Given the description of an element on the screen output the (x, y) to click on. 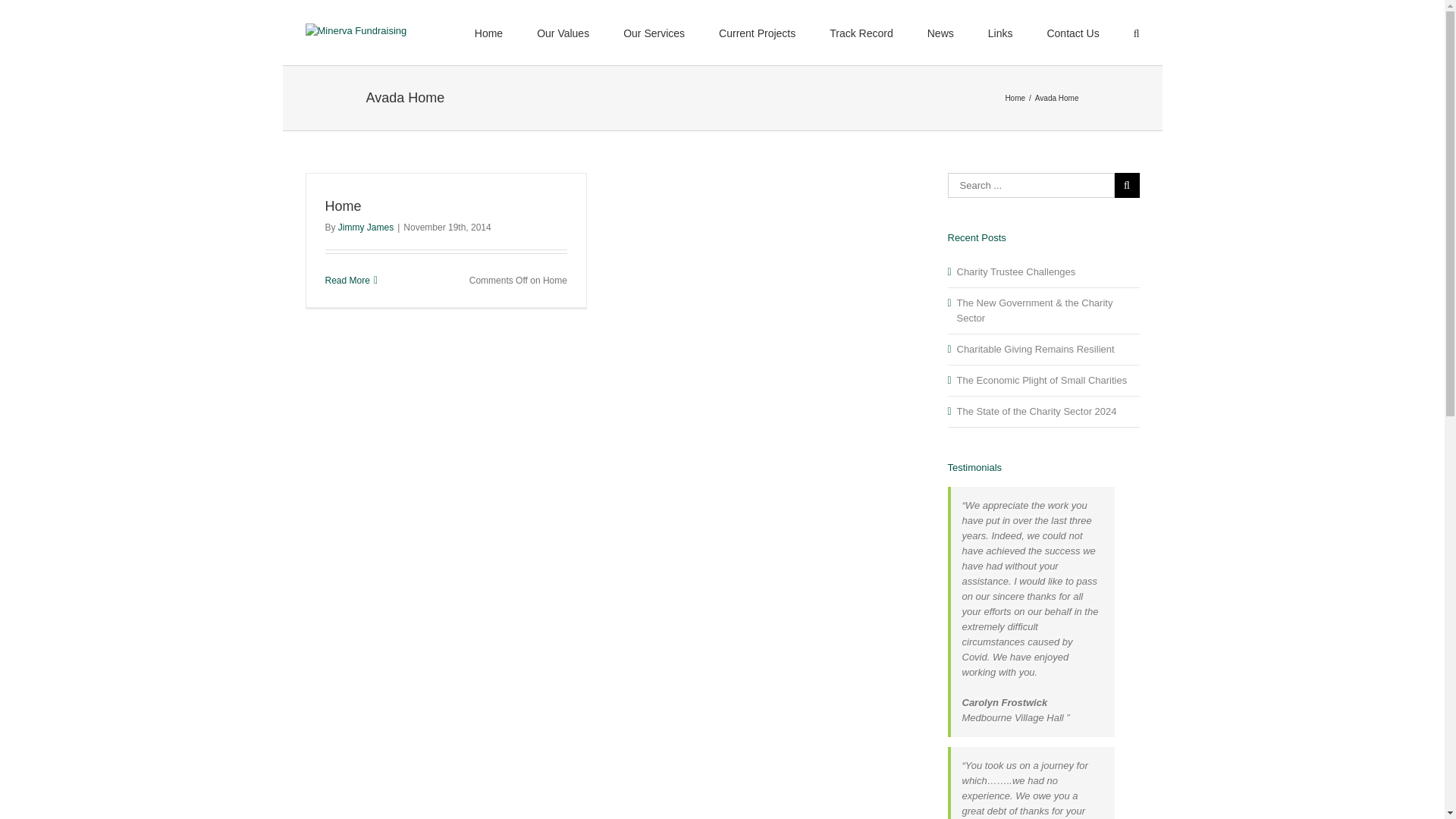
The Economic Plight of Small Charities (1041, 379)
Jimmy James (365, 226)
Home (1014, 98)
Charity Trustee Challenges (1015, 271)
Charitable Giving Remains Resilient (1035, 348)
Current Projects (756, 32)
The State of the Charity Sector 2024 (1036, 410)
Our Services (653, 32)
Home (342, 206)
Track Record (861, 32)
Read More (346, 280)
Posts by Jimmy James (365, 226)
